Given the description of an element on the screen output the (x, y) to click on. 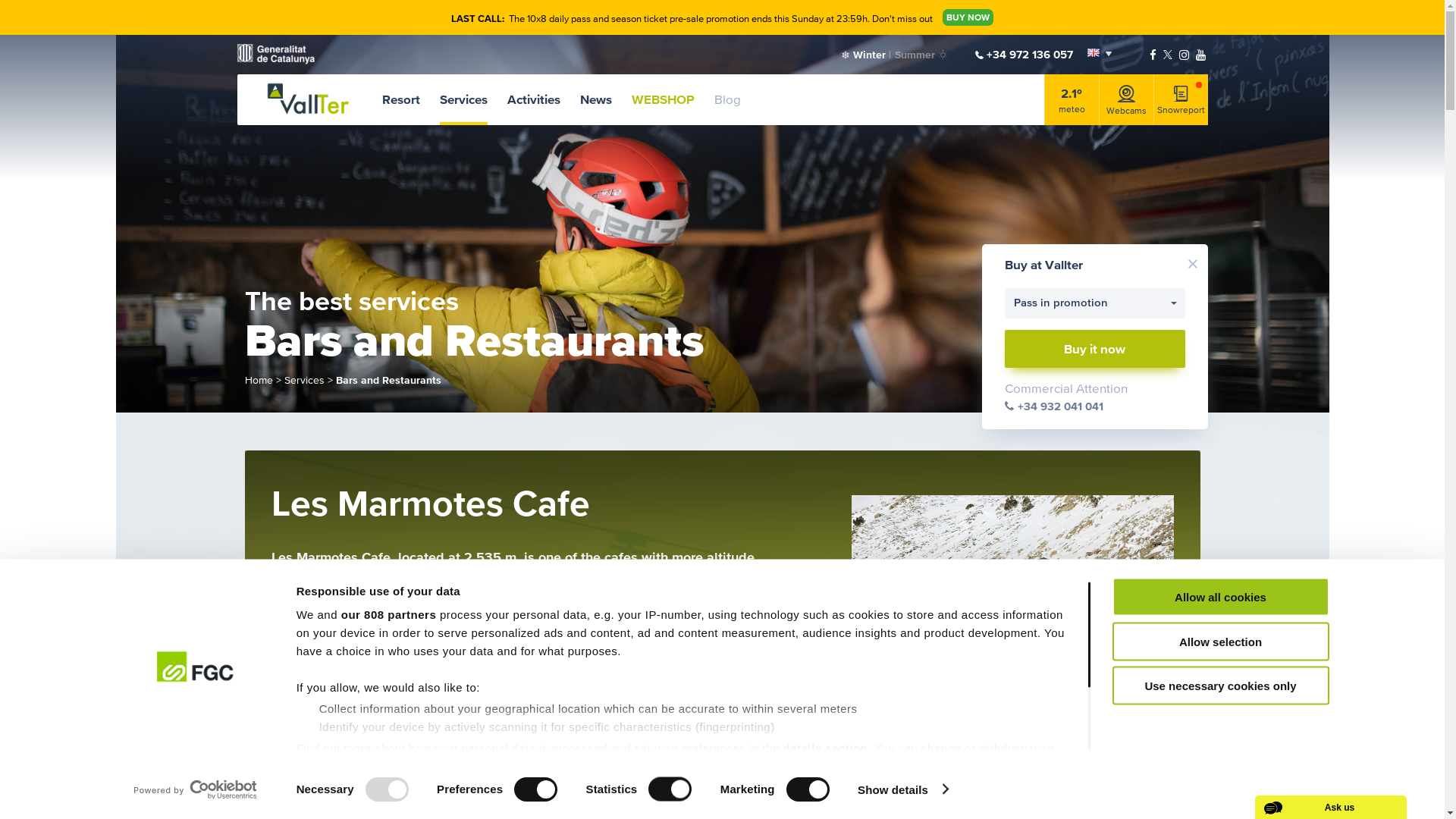
Services Element type: text (463, 99)
fontrubiparc@gmail.com Element type: text (542, 668)
Blog Element type: text (727, 99)
Vallter 2000 Element type: hover (308, 98)
Services Element type: text (303, 379)
News Element type: text (595, 99)
Resort Element type: text (401, 99)
Allow selection Element type: text (1219, 640)
WEBSHOP Element type: text (661, 99)
Allow all cookies Element type: text (1219, 596)
Use necessary cookies only Element type: text (1219, 684)
Winter Element type: text (863, 54)
Facebook Element type: hover (1152, 53)
Activities Element type: text (532, 99)
BUY NOW Element type: text (967, 17)
our 808 partners Element type: text (388, 614)
Generalitat de Catalunya Element type: hover (274, 53)
Home Element type: text (258, 379)
X Element type: hover (1167, 54)
details section Element type: text (824, 746)
Summer Element type: text (920, 54)
Instagram Element type: hover (1184, 53)
Youtube Element type: hover (1200, 53)
Buy it now Element type: text (1094, 348)
Show details Element type: text (902, 789)
